Given the description of an element on the screen output the (x, y) to click on. 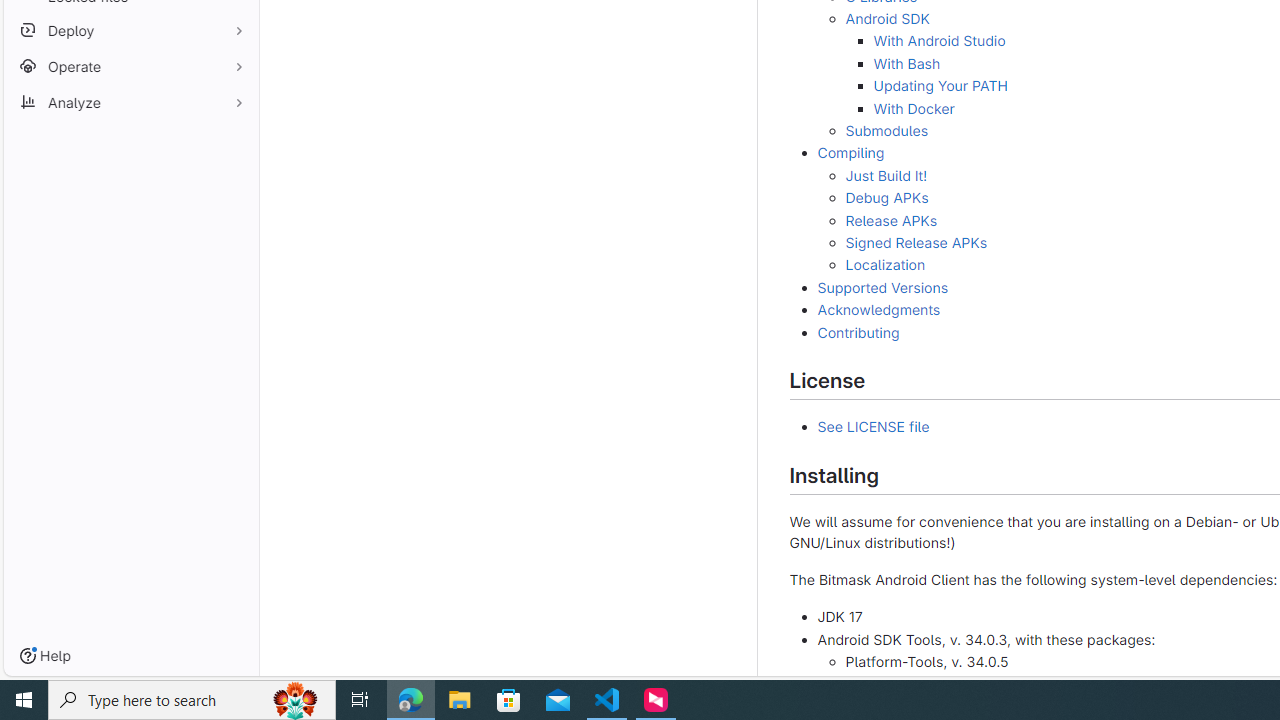
Acknowledgments (878, 309)
Updating Your PATH (940, 86)
Operate (130, 65)
Supported Versions (882, 286)
Just Build It! (886, 175)
Deploy (130, 29)
Analyze (130, 101)
Submodules (886, 129)
With Android Studio (939, 40)
See LICENSE file (873, 427)
Deploy (130, 29)
Signed Release APKs (916, 242)
Debug APKs (886, 197)
Analyze (130, 101)
